Given the description of an element on the screen output the (x, y) to click on. 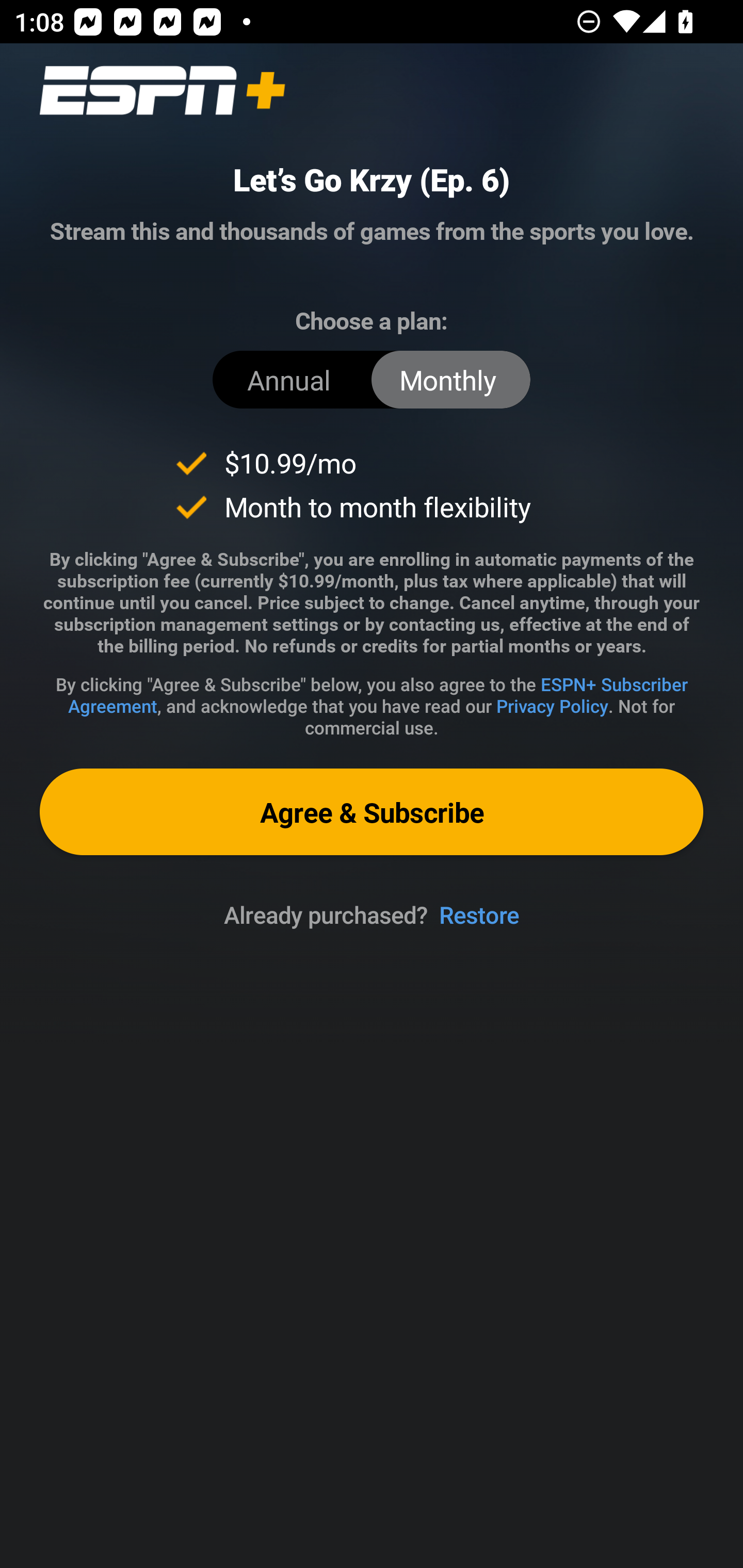
Agree & Subscribe (371, 811)
